Given the description of an element on the screen output the (x, y) to click on. 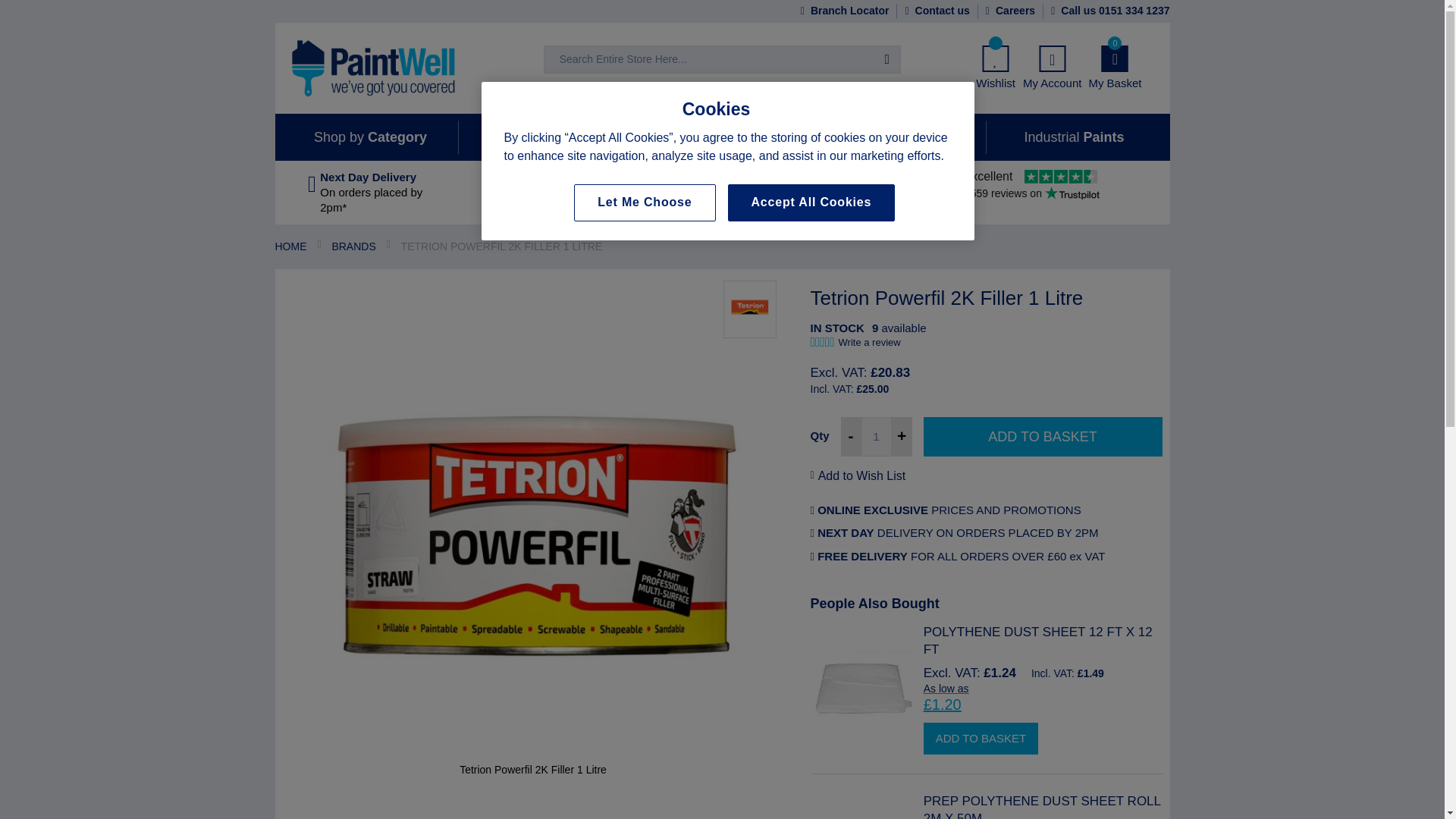
All Categories (589, 58)
Call us 0151 334 1237 (1106, 10)
Go to Home Page (290, 246)
Contact us (932, 10)
Decorating Supplies (408, 67)
Careers (1006, 10)
Search (886, 58)
Customer reviews powered by Trustpilot (1030, 184)
Branch Locator (841, 10)
